Given the description of an element on the screen output the (x, y) to click on. 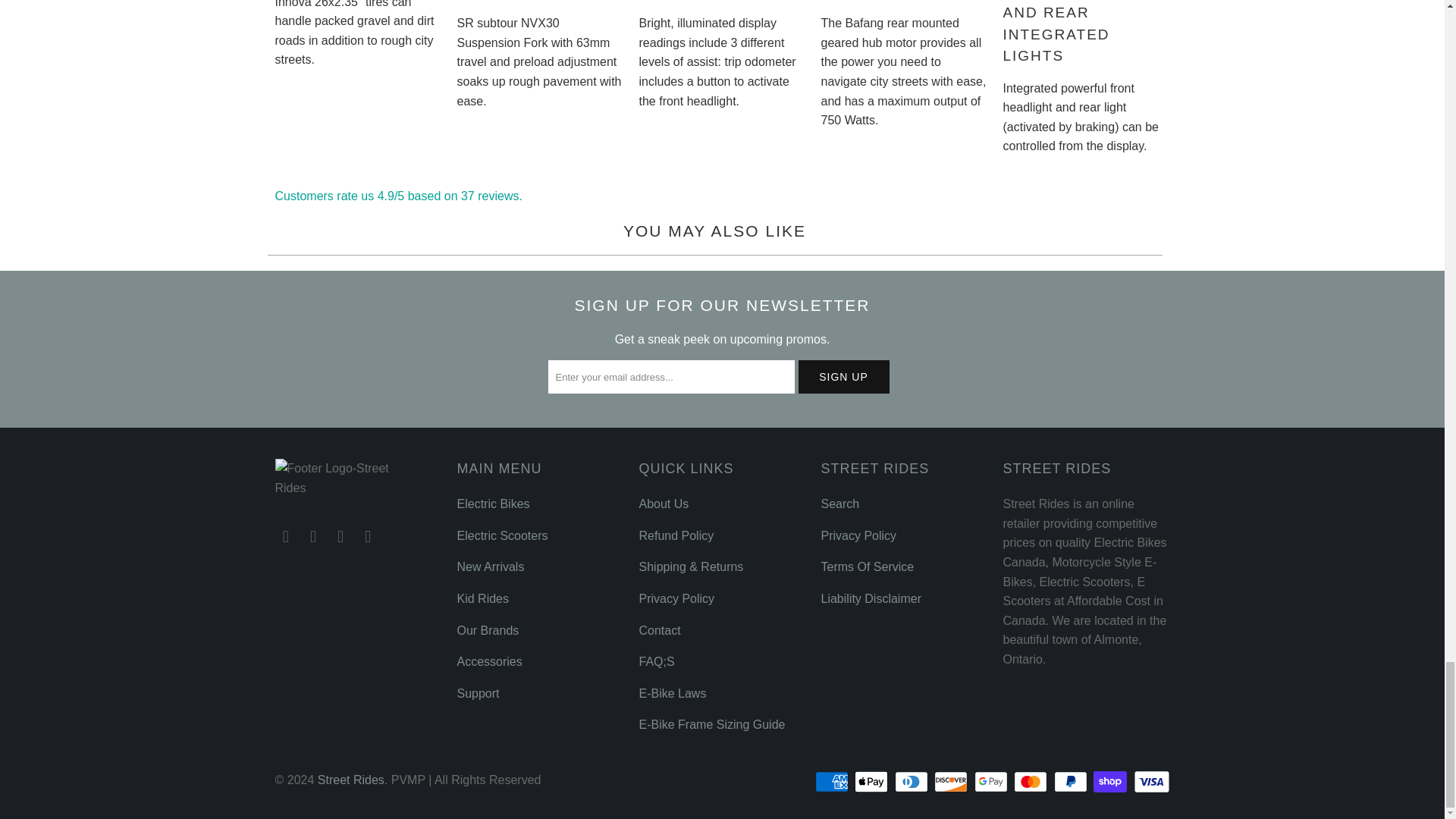
PayPal (1072, 781)
Discover (952, 781)
Visa (1150, 781)
Google Pay (992, 781)
American Express (833, 781)
Diners Club (913, 781)
Sign Up (842, 376)
Shop Pay (1111, 781)
Mastercard (1031, 781)
Street Rides on Facebook (286, 536)
Apple Pay (872, 781)
